Given the description of an element on the screen output the (x, y) to click on. 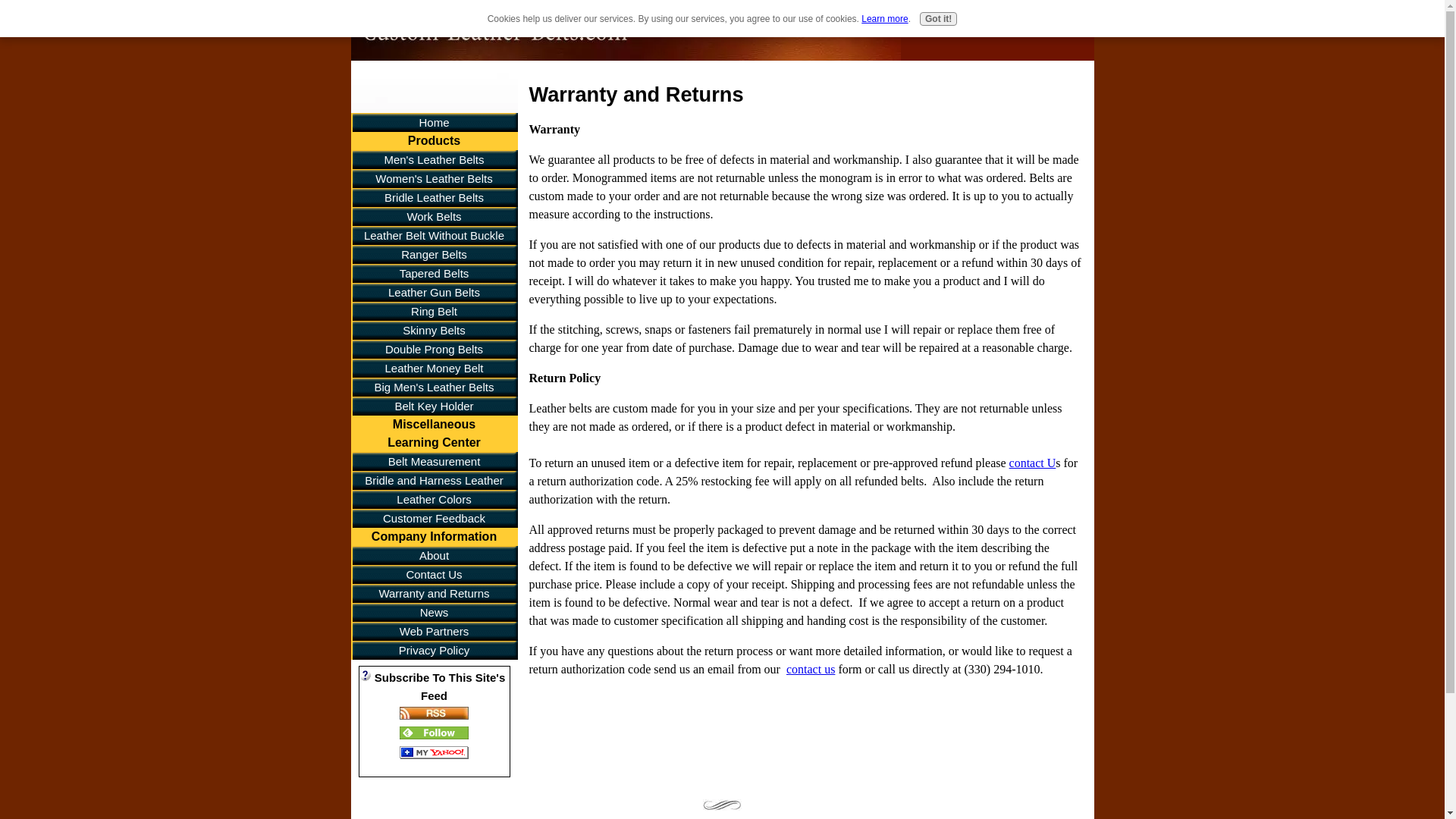
Double Prong Belts (433, 348)
Leather Gun Belts (433, 292)
Men's Leather Belts (433, 158)
Belt Measurement (433, 461)
Learn more (884, 18)
contact U (1033, 462)
Leather Colors (433, 498)
Women's Leather Belts (433, 178)
Privacy Policy (433, 650)
Skinny Belts (433, 330)
